Given the description of an element on the screen output the (x, y) to click on. 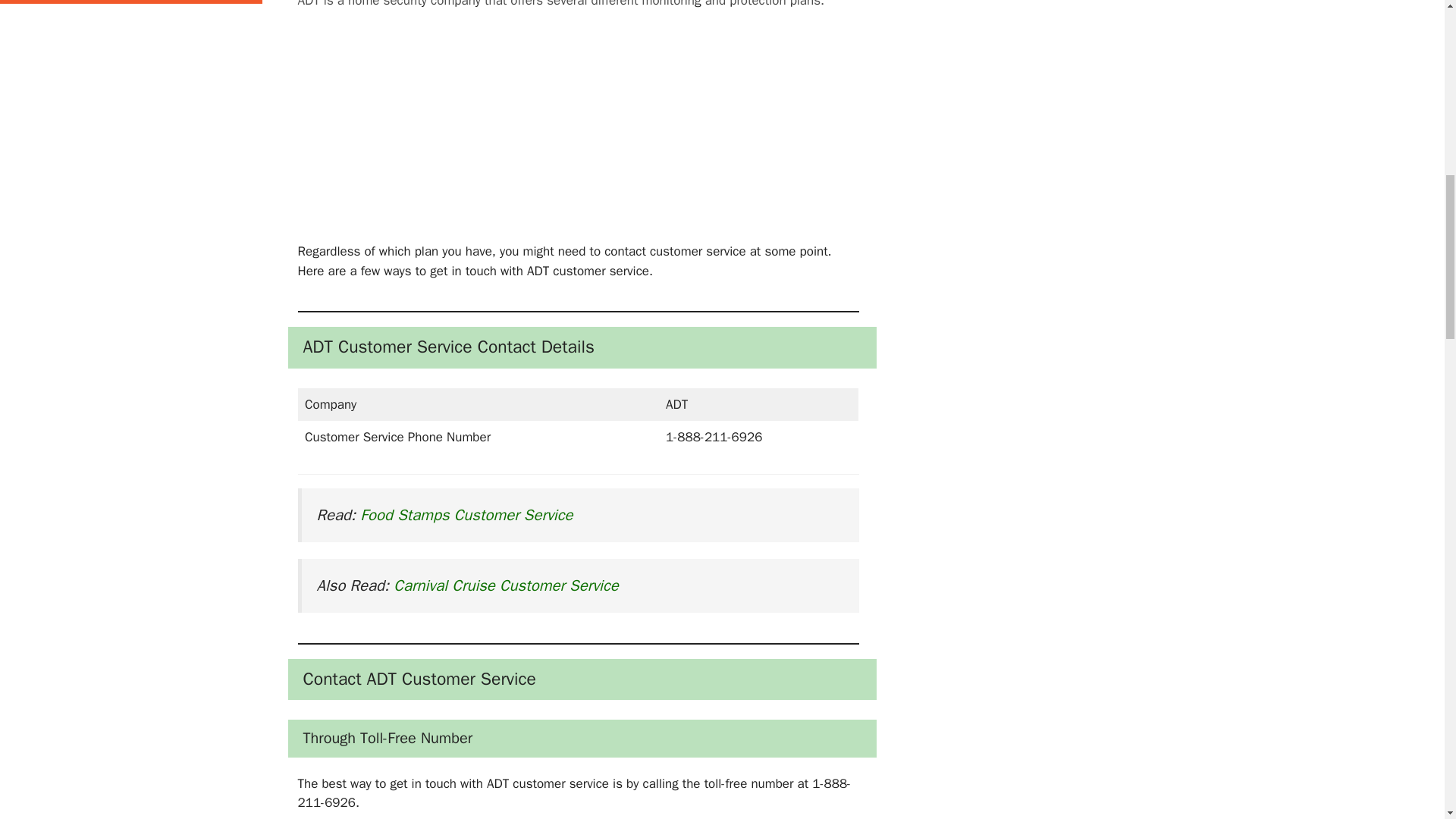
Food Stamps Customer Service (465, 514)
Carnival Cruise Customer Service (505, 585)
